Given the description of an element on the screen output the (x, y) to click on. 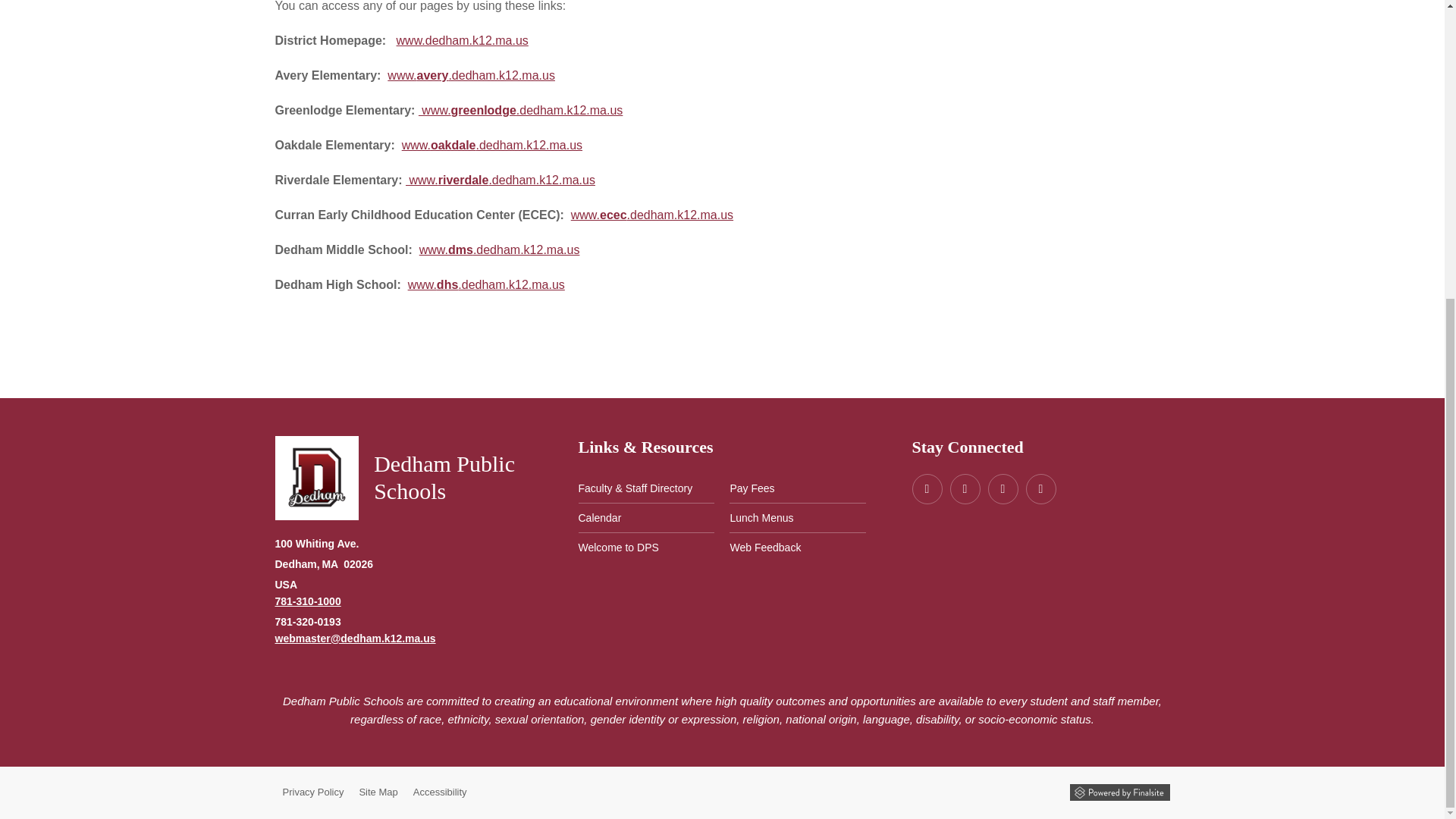
Email (355, 638)
Powered by Finalsite opens in a new window (1118, 791)
